Given the description of an element on the screen output the (x, y) to click on. 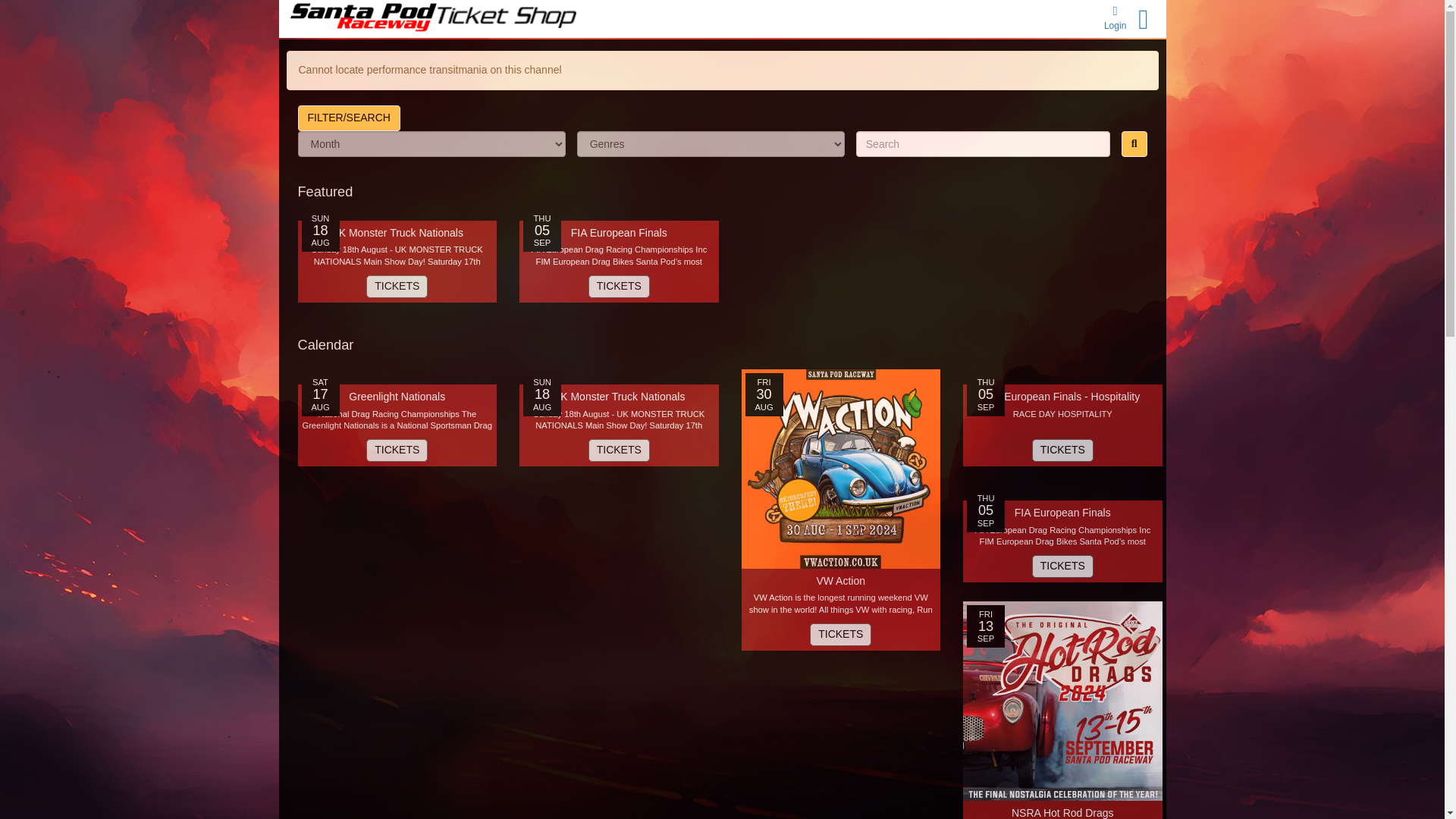
Login (1117, 24)
